Given the description of an element on the screen output the (x, y) to click on. 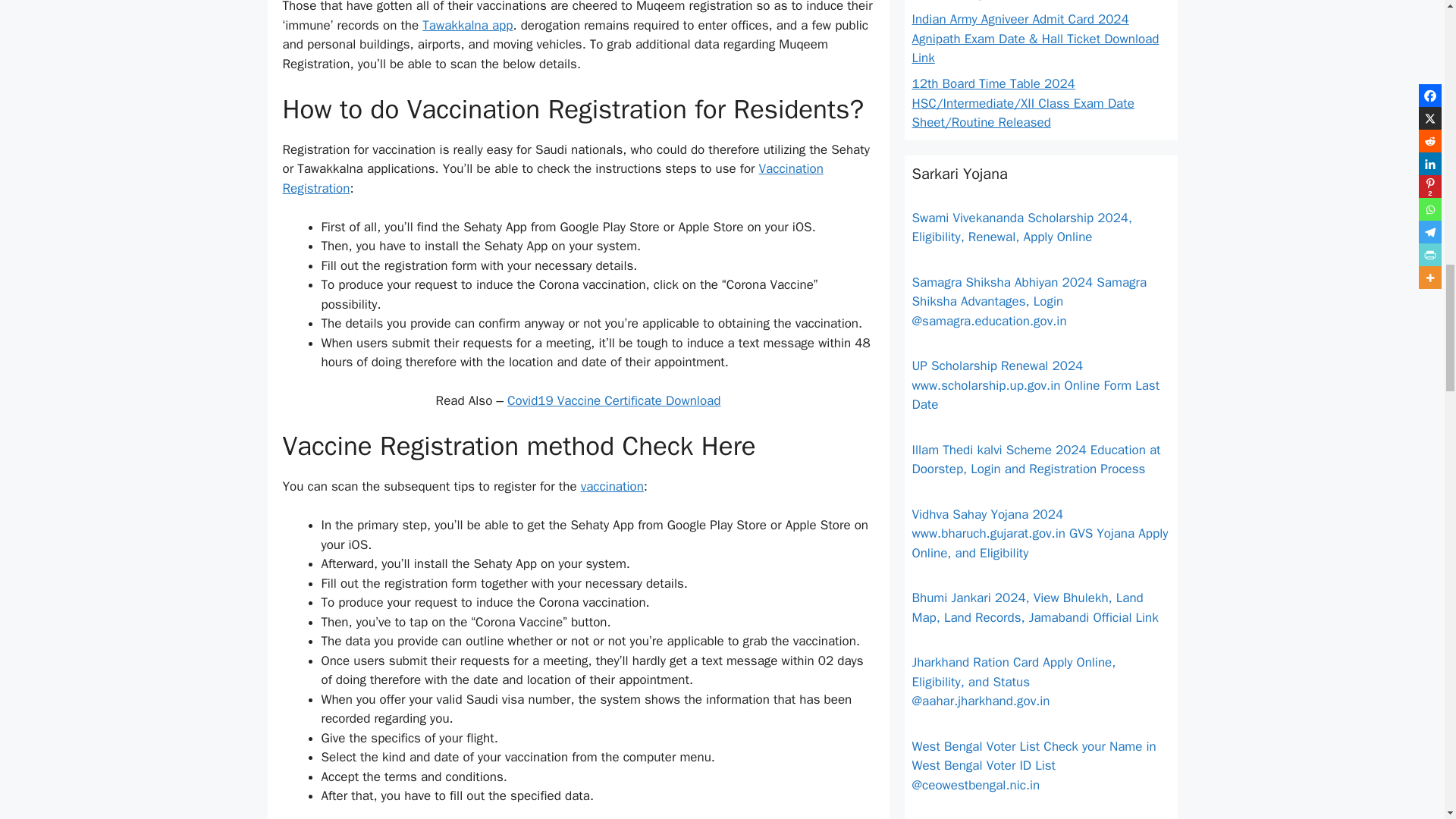
vaccination (611, 486)
Tawakkalna app (467, 25)
Covid19 Vaccine Certificate Download (613, 400)
Vaccination Registration (552, 178)
